Given the description of an element on the screen output the (x, y) to click on. 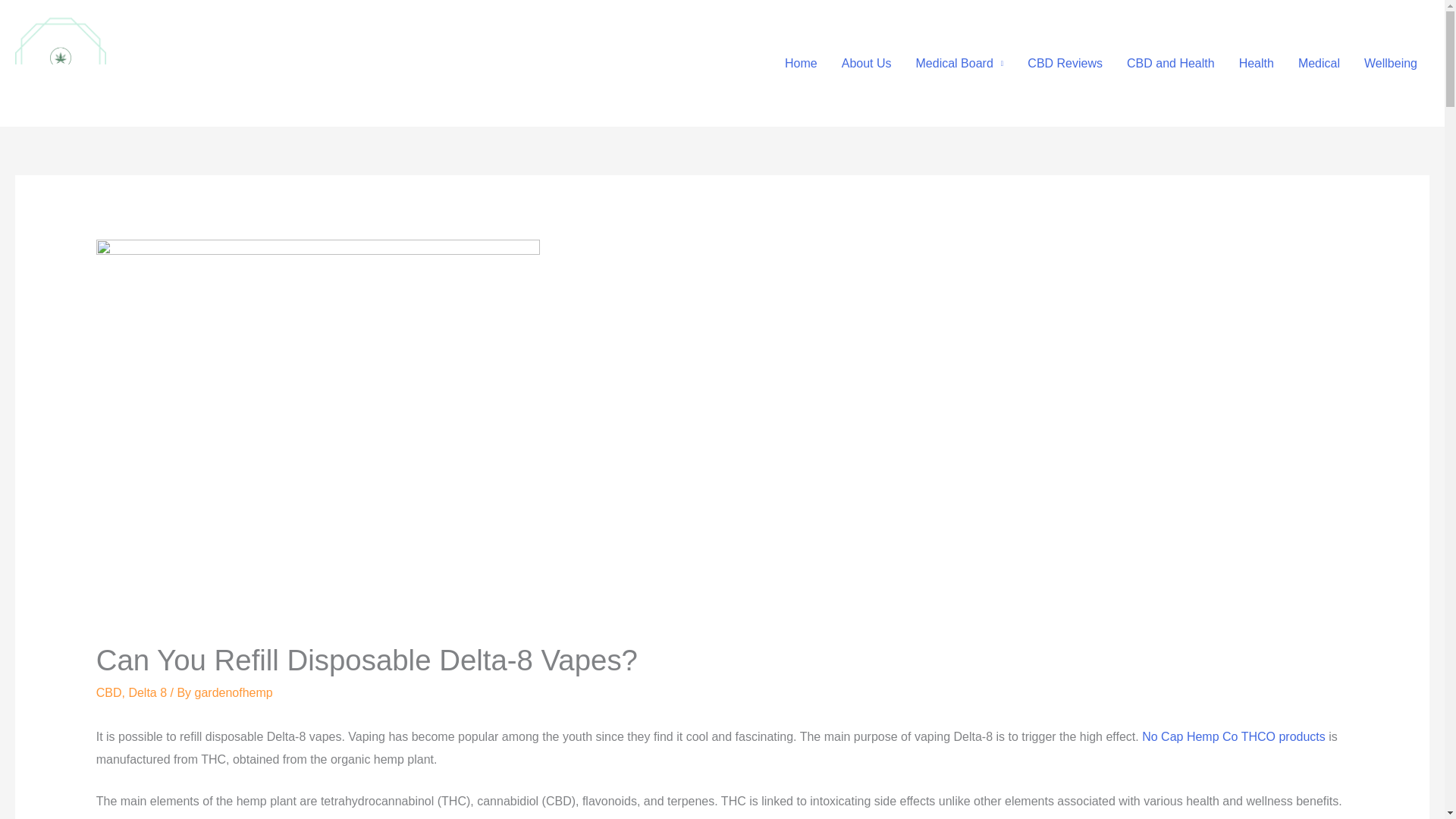
CBD and Health (1171, 62)
View all posts by gardenofhemp (234, 692)
Medical Board (960, 62)
About Us (866, 62)
CBD Reviews (1064, 62)
CBD (109, 692)
Home (801, 62)
No Cap Hemp Co THCO products (1232, 736)
gardenofhemp (234, 692)
Delta 8 (147, 692)
